Given the description of an element on the screen output the (x, y) to click on. 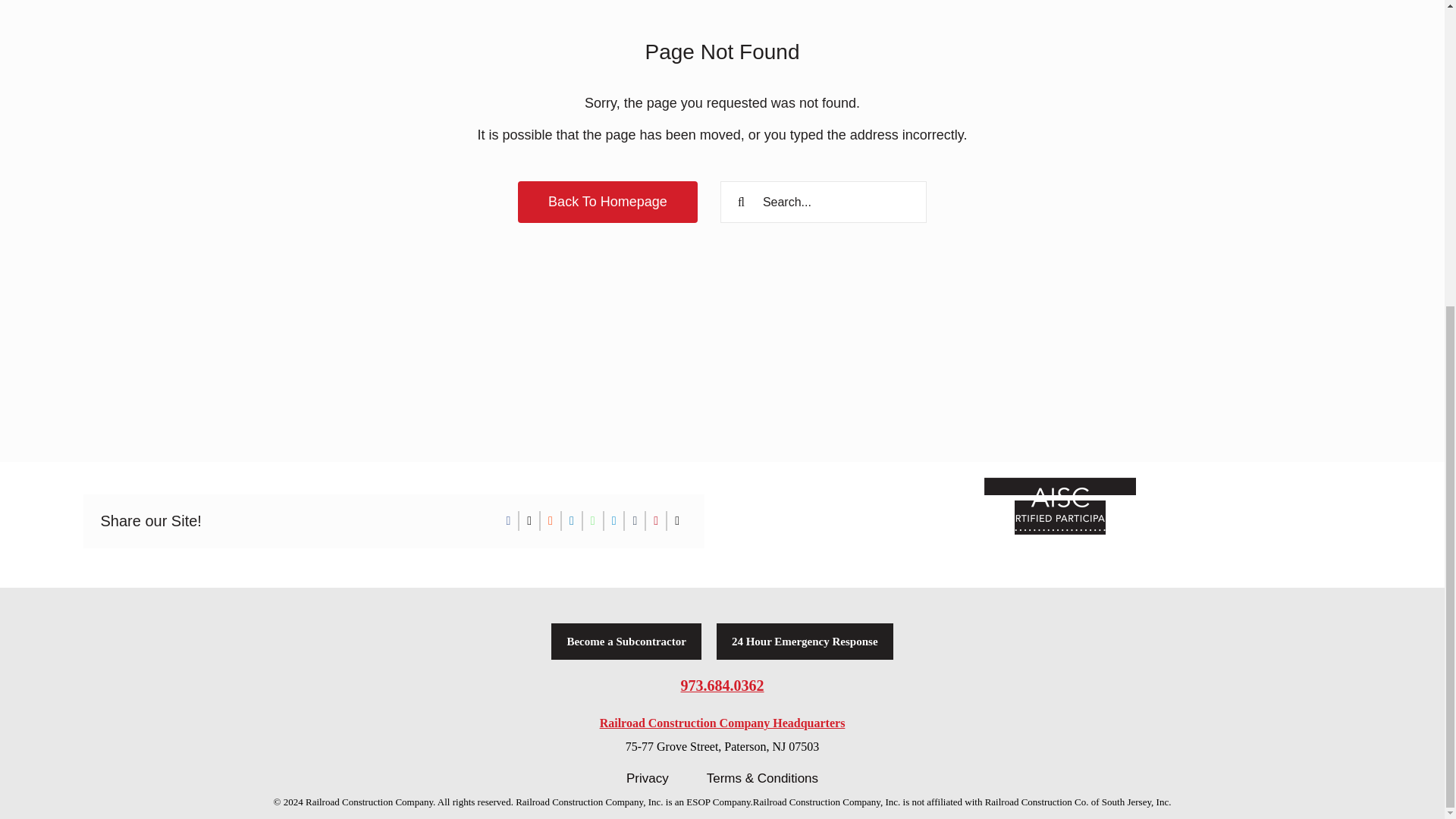
X (528, 520)
Email (676, 520)
Reddit (550, 520)
Pinterest (655, 520)
24 Hour Emergency Response (804, 641)
Back To Homepage (607, 201)
Telegram (614, 520)
LinkedIn (571, 520)
Facebook (507, 520)
Tumblr (634, 520)
